Given the description of an element on the screen output the (x, y) to click on. 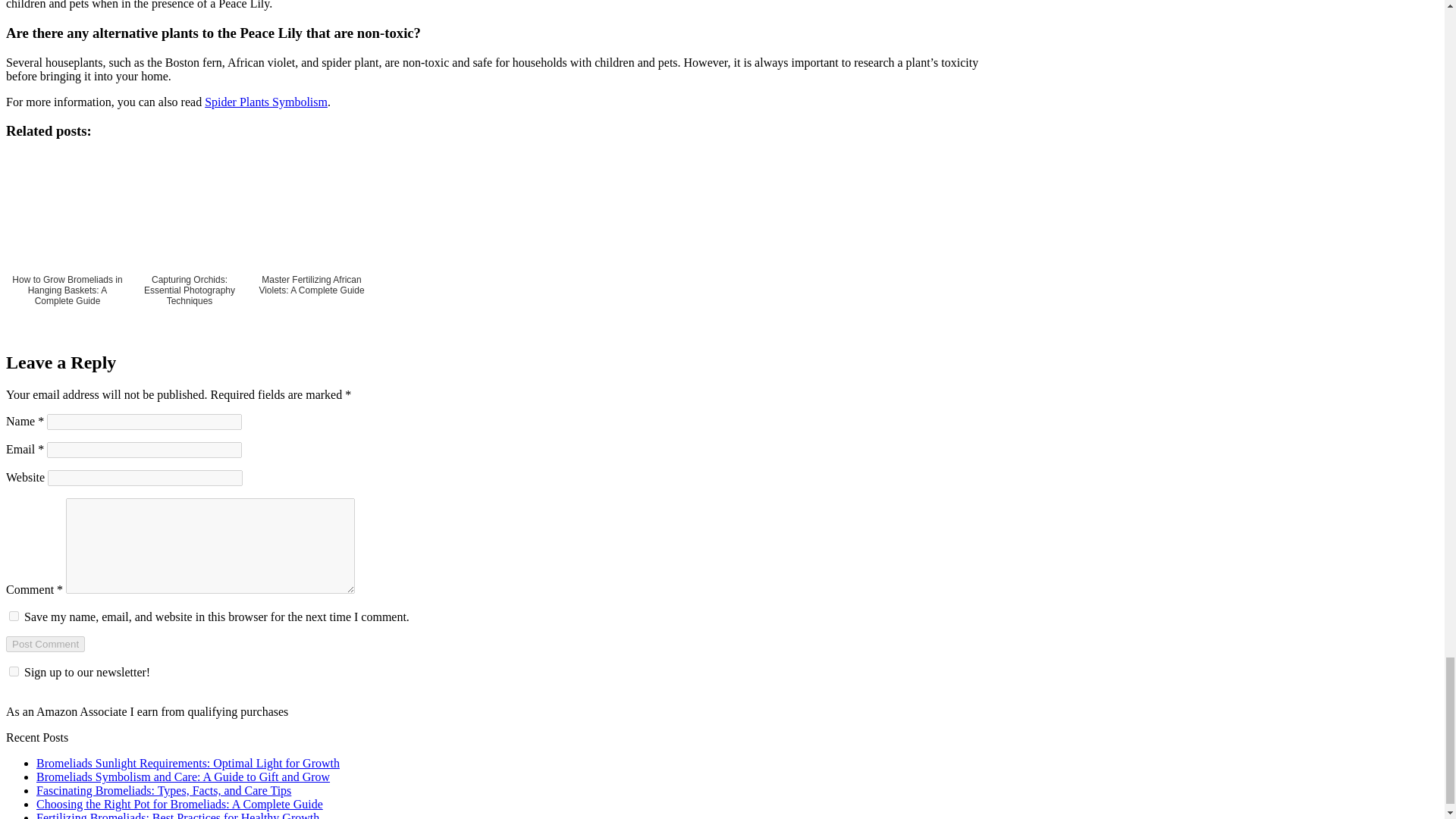
Post Comment (44, 643)
Fascinating Bromeliads: Types, Facts, and Care Tips (163, 789)
yes (13, 615)
Bromeliads Symbolism and Care: A Guide to Gift and Grow (183, 776)
Bromeliads Sunlight Requirements: Optimal Light for Growth (187, 762)
Choosing the Right Pot for Bromeliads: A Complete Guide (179, 803)
Spider Plants Symbolism (266, 101)
1 (13, 671)
Post Comment (44, 643)
